Given the description of an element on the screen output the (x, y) to click on. 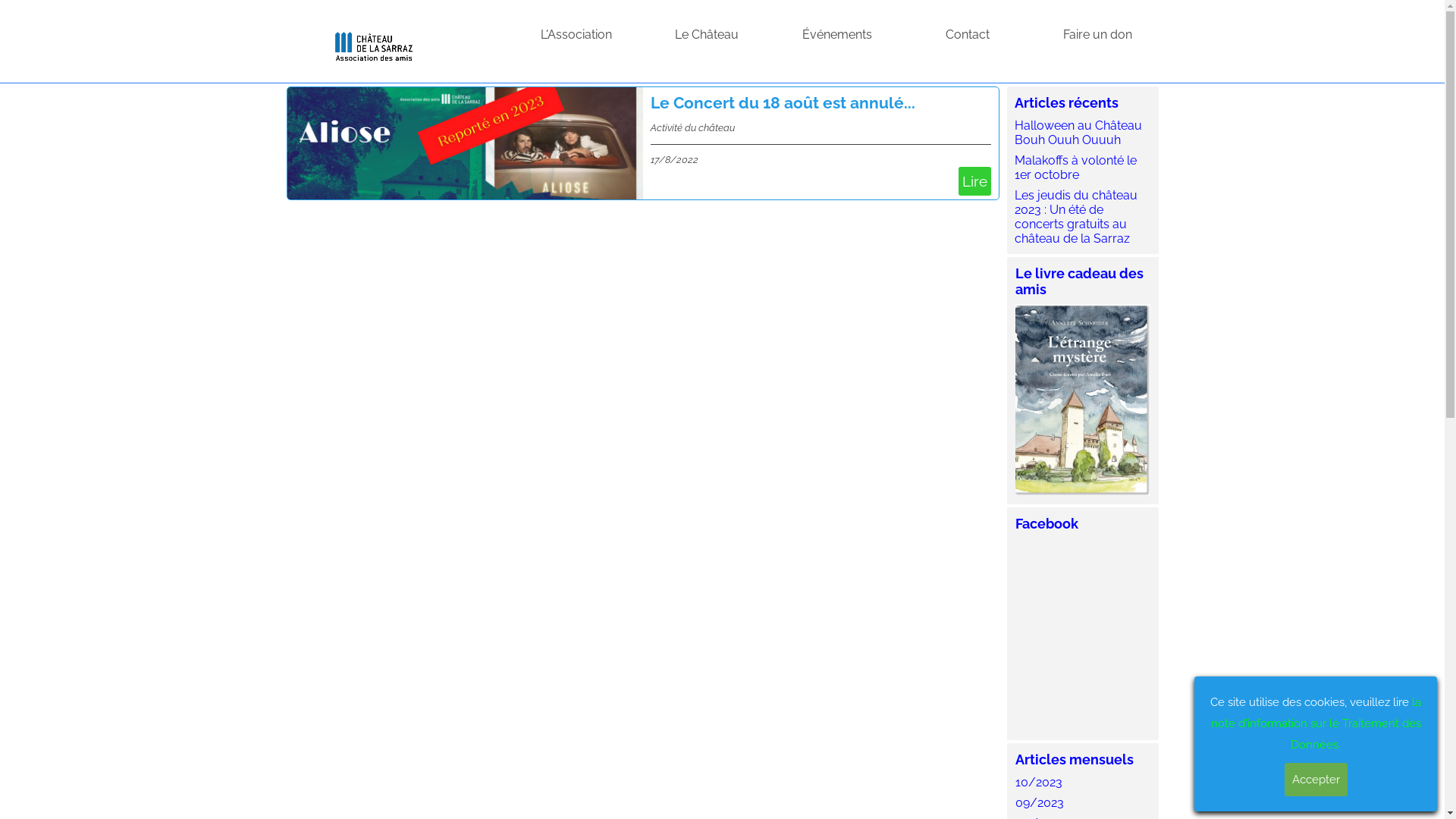
Faire un don Element type: text (1097, 34)
Lire Element type: text (974, 180)
Logo Element type: hover (373, 43)
Contact Element type: text (967, 34)
L'Association Element type: text (576, 34)
10/2023 Element type: text (1037, 782)
09/2023 Element type: text (1038, 802)
